Given the description of an element on the screen output the (x, y) to click on. 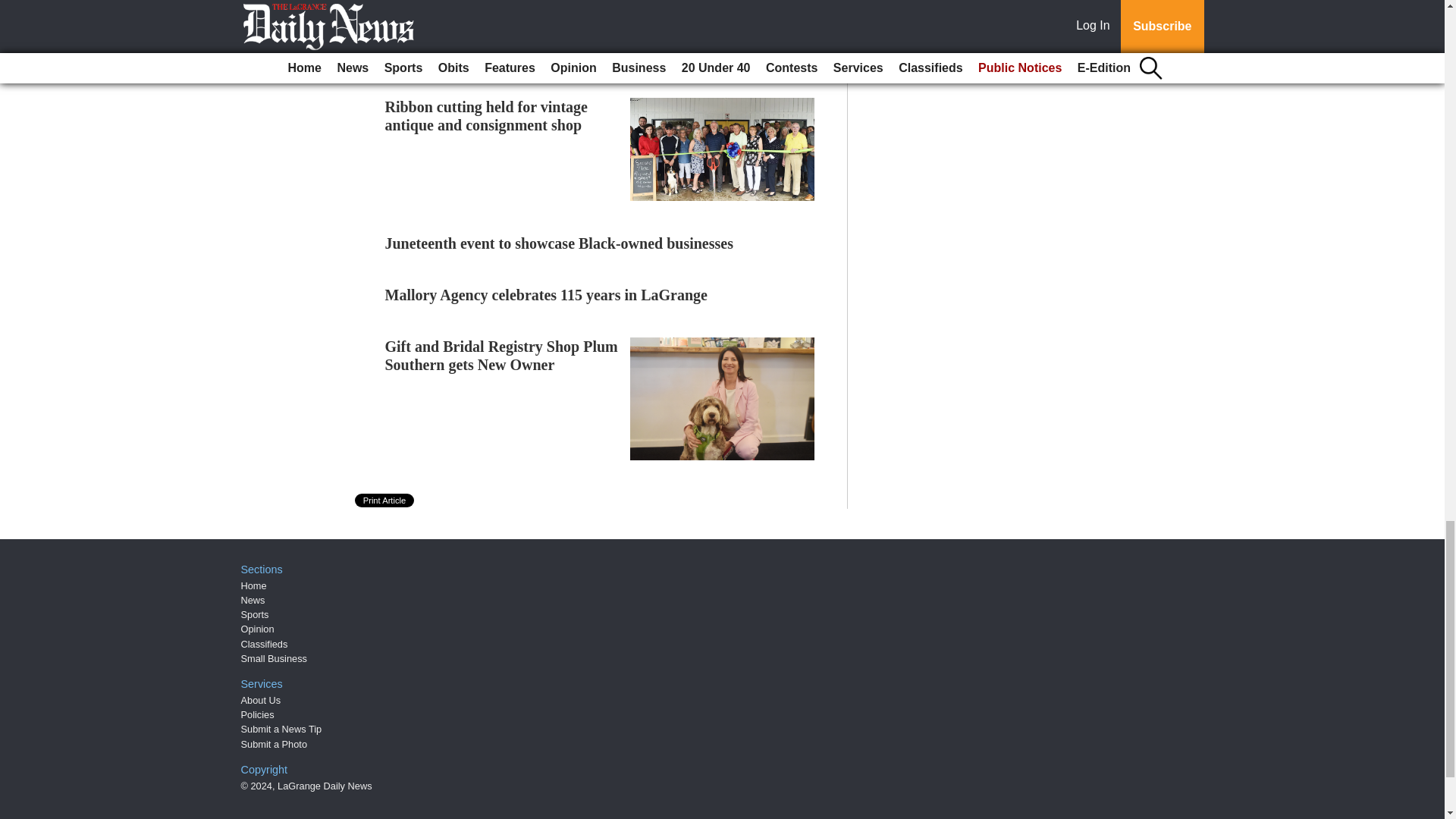
Print Article (384, 499)
Gift and Bridal Registry Shop Plum Southern gets New Owner (501, 355)
Gift and Bridal Registry Shop Plum Southern gets New Owner (501, 355)
Mallory Agency celebrates 115 years in LaGrange (546, 294)
Ribbon cutting held for vintage antique and consignment shop (486, 115)
Home (253, 585)
Juneteenth event to showcase Black-owned businesses (559, 243)
Ribbon cutting held for vintage antique and consignment shop (486, 115)
Mallory Agency celebrates 115 years in LaGrange (546, 294)
Juneteenth event to showcase Black-owned businesses (559, 243)
News (252, 600)
